Given the description of an element on the screen output the (x, y) to click on. 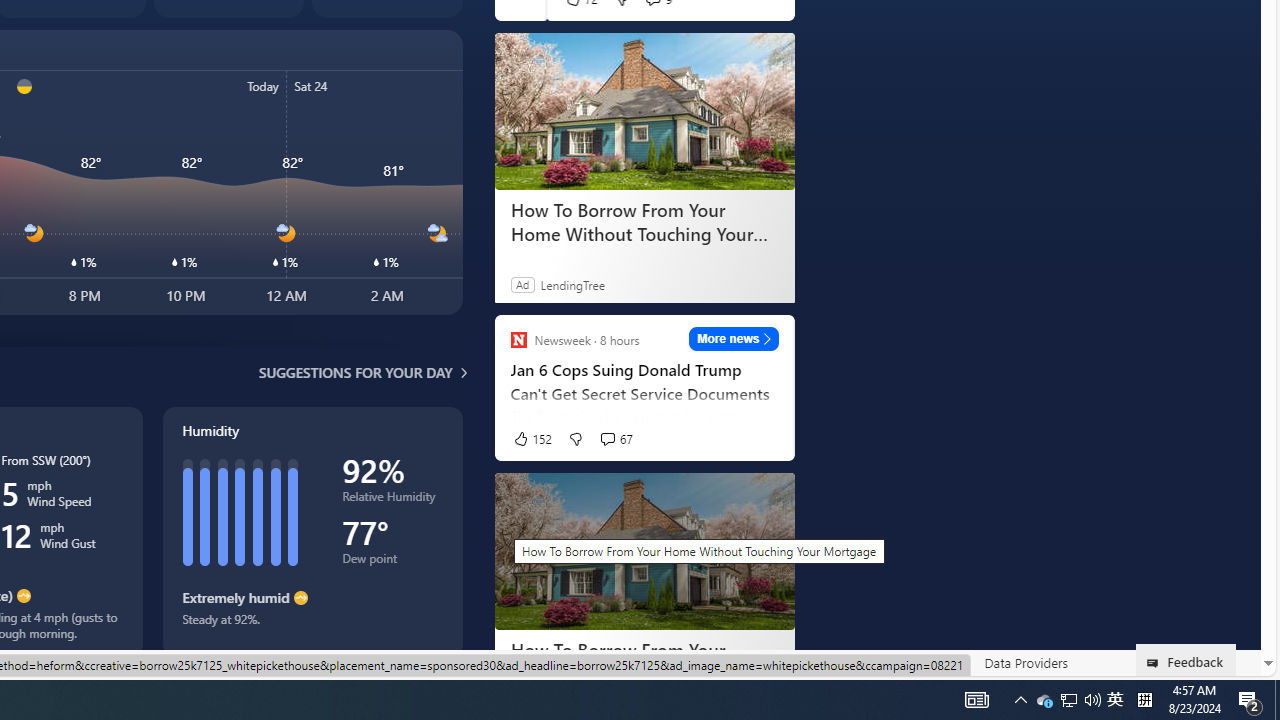
Consumer Health Privacy (619, 662)
Humidity (312, 531)
LendingTree (572, 284)
Data Providers (1025, 662)
Terms of use (861, 663)
Steady at 92%. (311, 626)
Relative Humidity (391, 500)
How To Borrow From Your Home Without Touching Your Mortgage (644, 661)
Dew point (391, 562)
Privacy & Cookies (759, 662)
Data Providers (1025, 663)
